Given the description of an element on the screen output the (x, y) to click on. 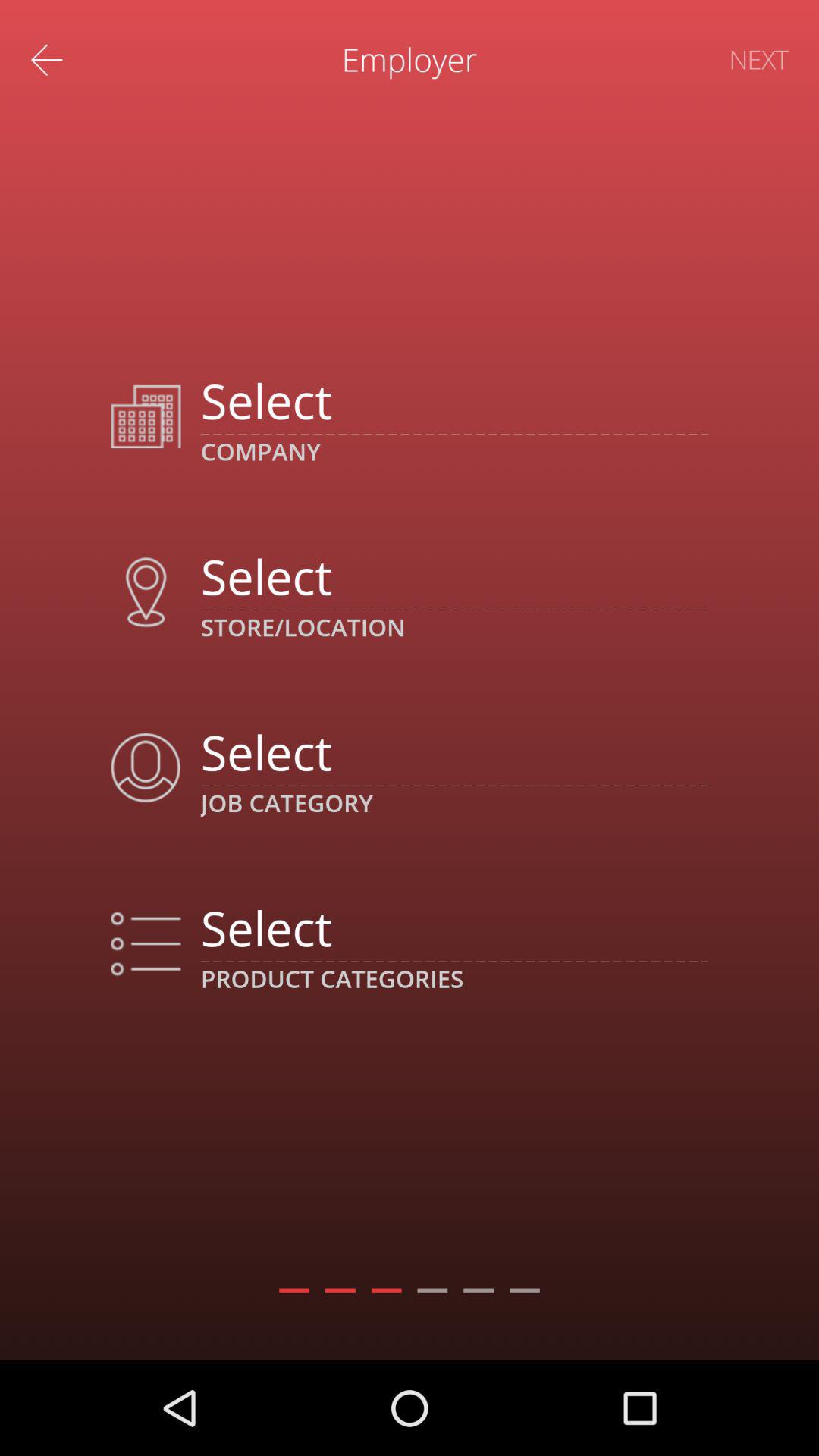
select product category (454, 927)
